Given the description of an element on the screen output the (x, y) to click on. 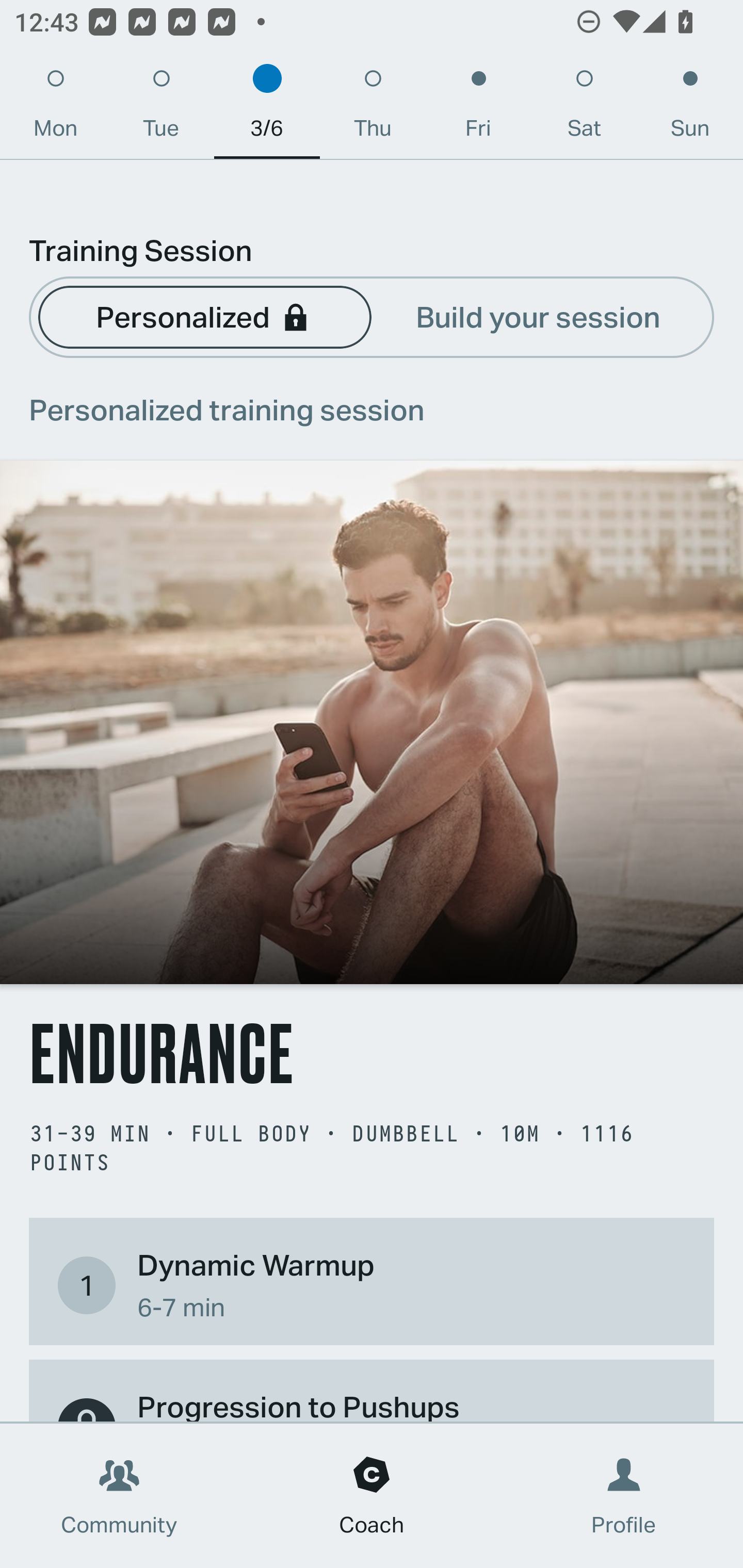
Mon (55, 108)
Tue (160, 108)
3/6 (266, 108)
Thu (372, 108)
Fri (478, 108)
Sat (584, 108)
Sun (690, 108)
Personalized (204, 315)
Build your session (538, 315)
1 Dynamic Warmup 6-7 min (371, 1284)
Community (119, 1495)
Profile (624, 1495)
